Given the description of an element on the screen output the (x, y) to click on. 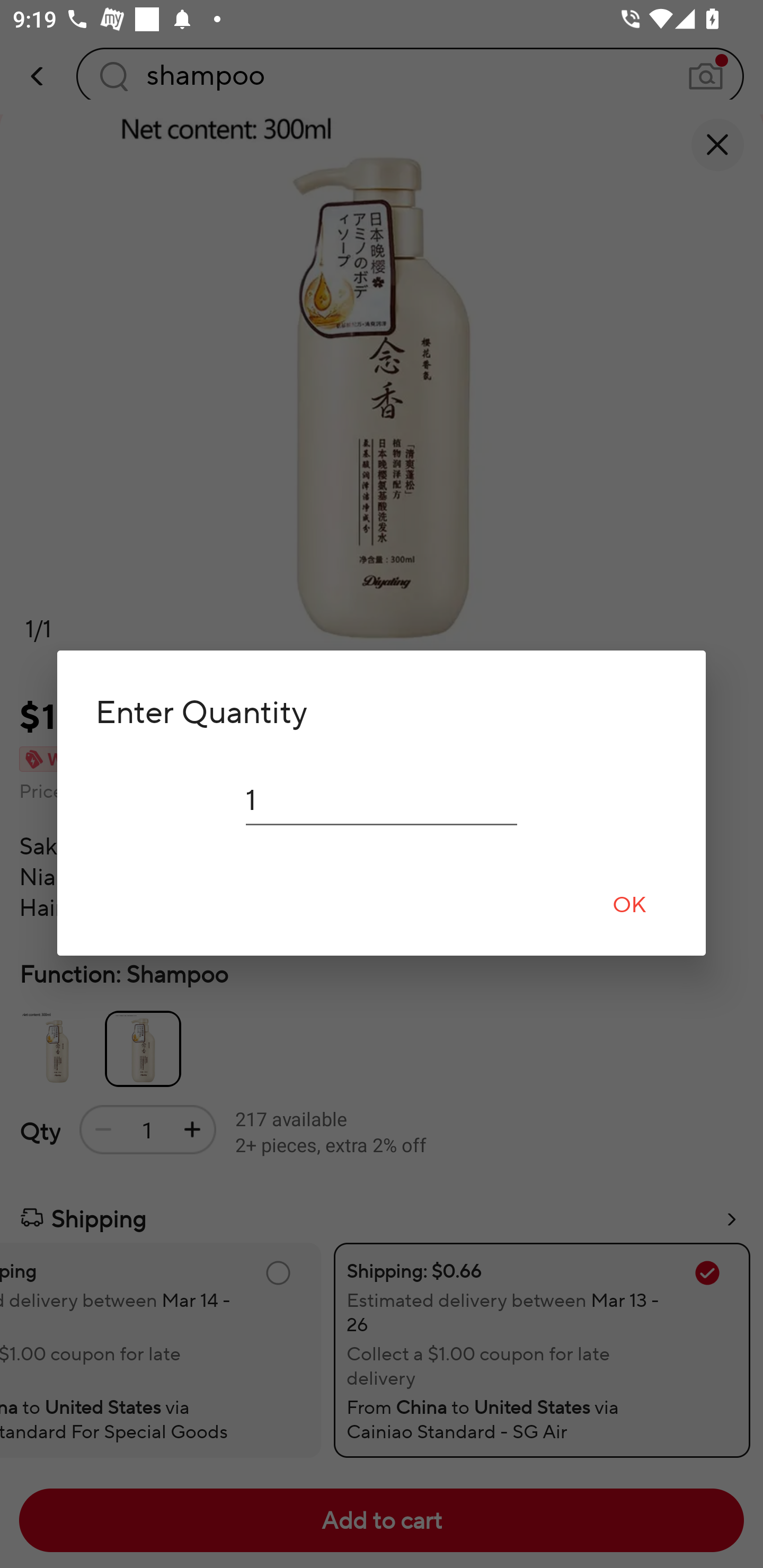
1 (381, 800)
OK (629, 904)
